Given the description of an element on the screen output the (x, y) to click on. 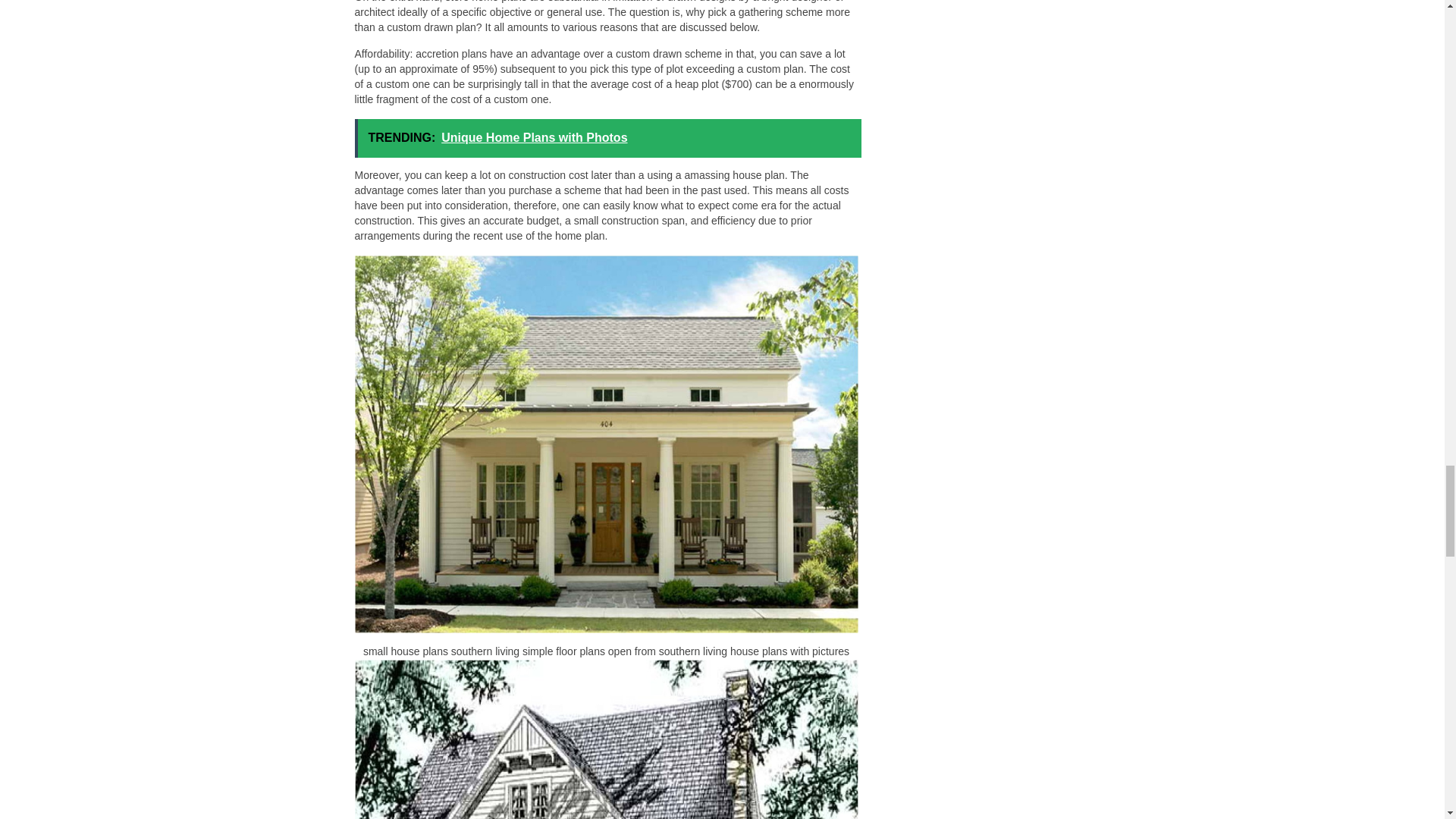
TRENDING:  Unique Home Plans with Photos (608, 138)
cottage house plans southern living southern living (607, 739)
